Given the description of an element on the screen output the (x, y) to click on. 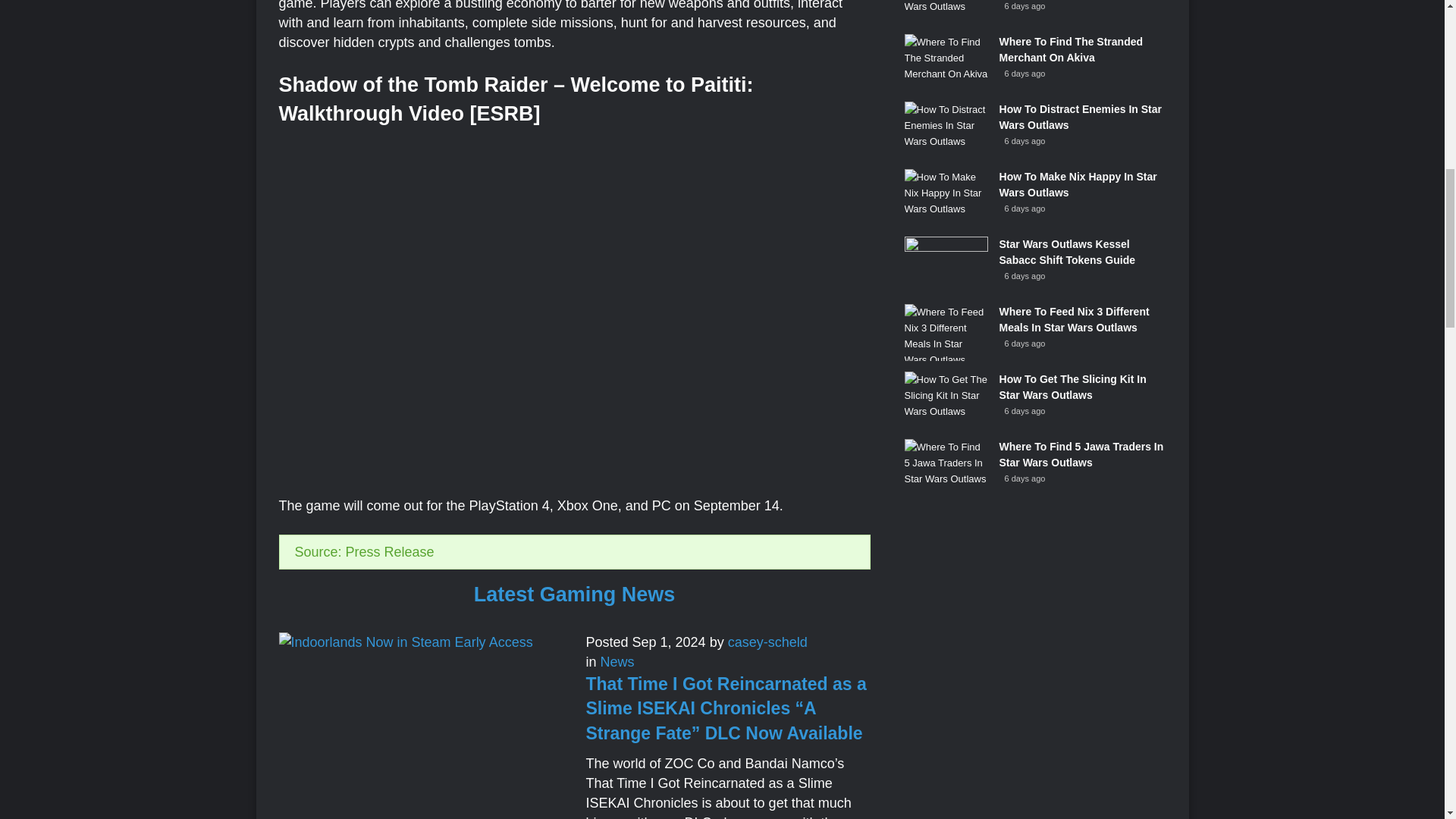
casey-scheld (768, 642)
Latest Gaming News (574, 594)
News (616, 661)
